Given the description of an element on the screen output the (x, y) to click on. 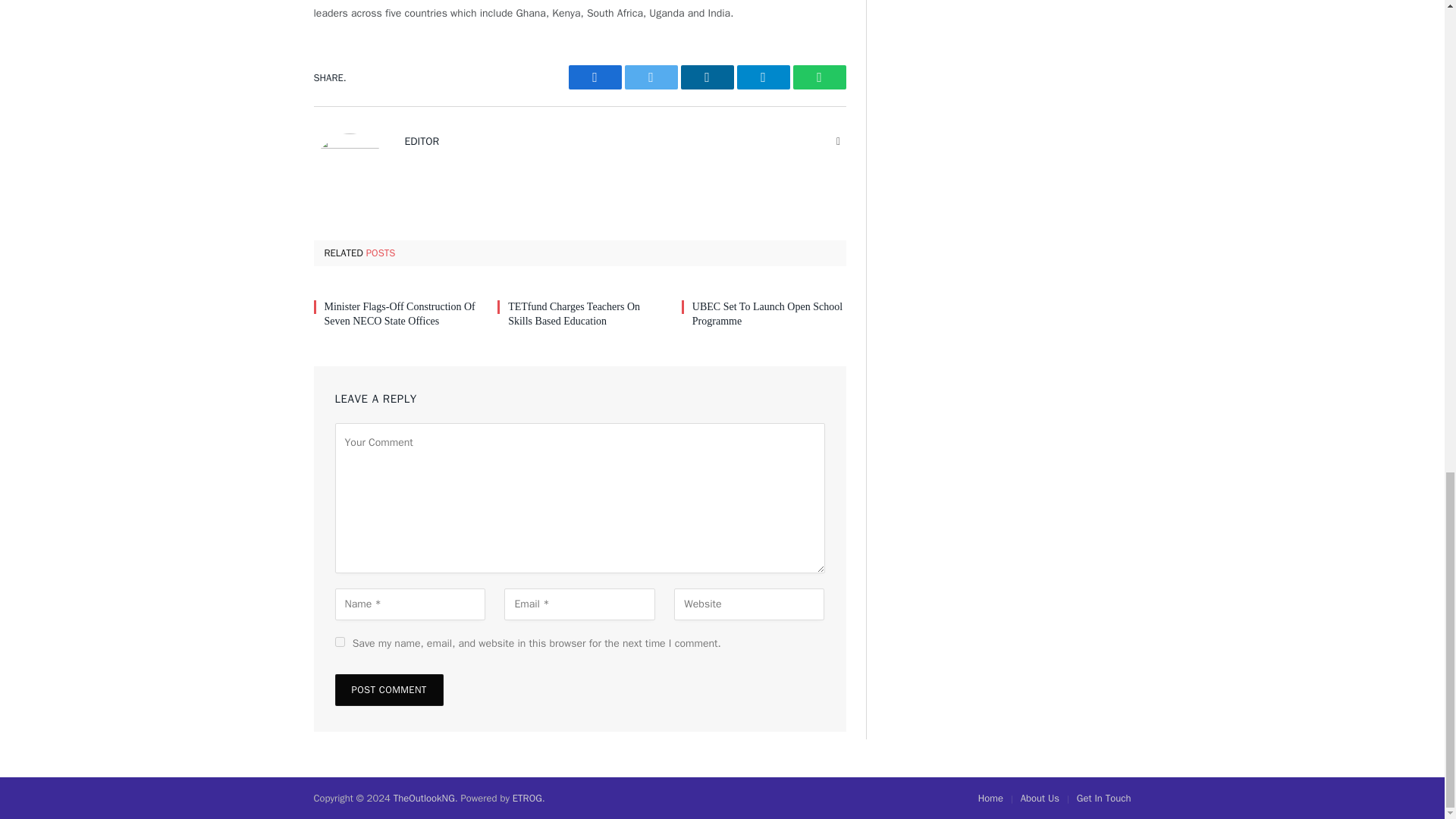
Share on Twitter (651, 77)
yes (339, 642)
Post Comment (389, 689)
Share on Facebook (595, 77)
Share on LinkedIn (707, 77)
